Given the description of an element on the screen output the (x, y) to click on. 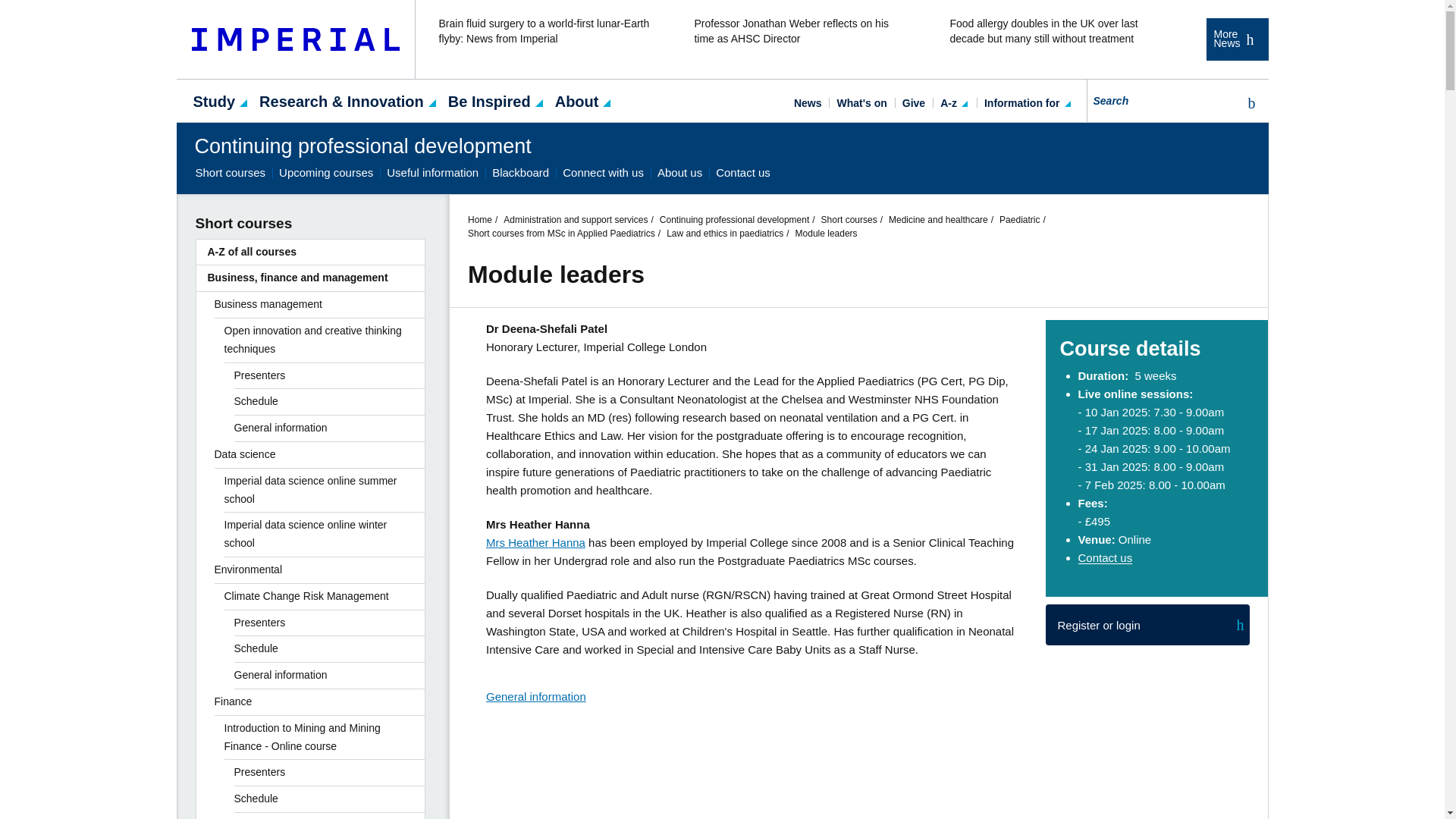
Search (1249, 102)
More News (1236, 39)
Imperial College London (295, 39)
Study (213, 100)
Imperial College London Home (295, 39)
Contact us link opens in a new window (1105, 557)
